Given the description of an element on the screen output the (x, y) to click on. 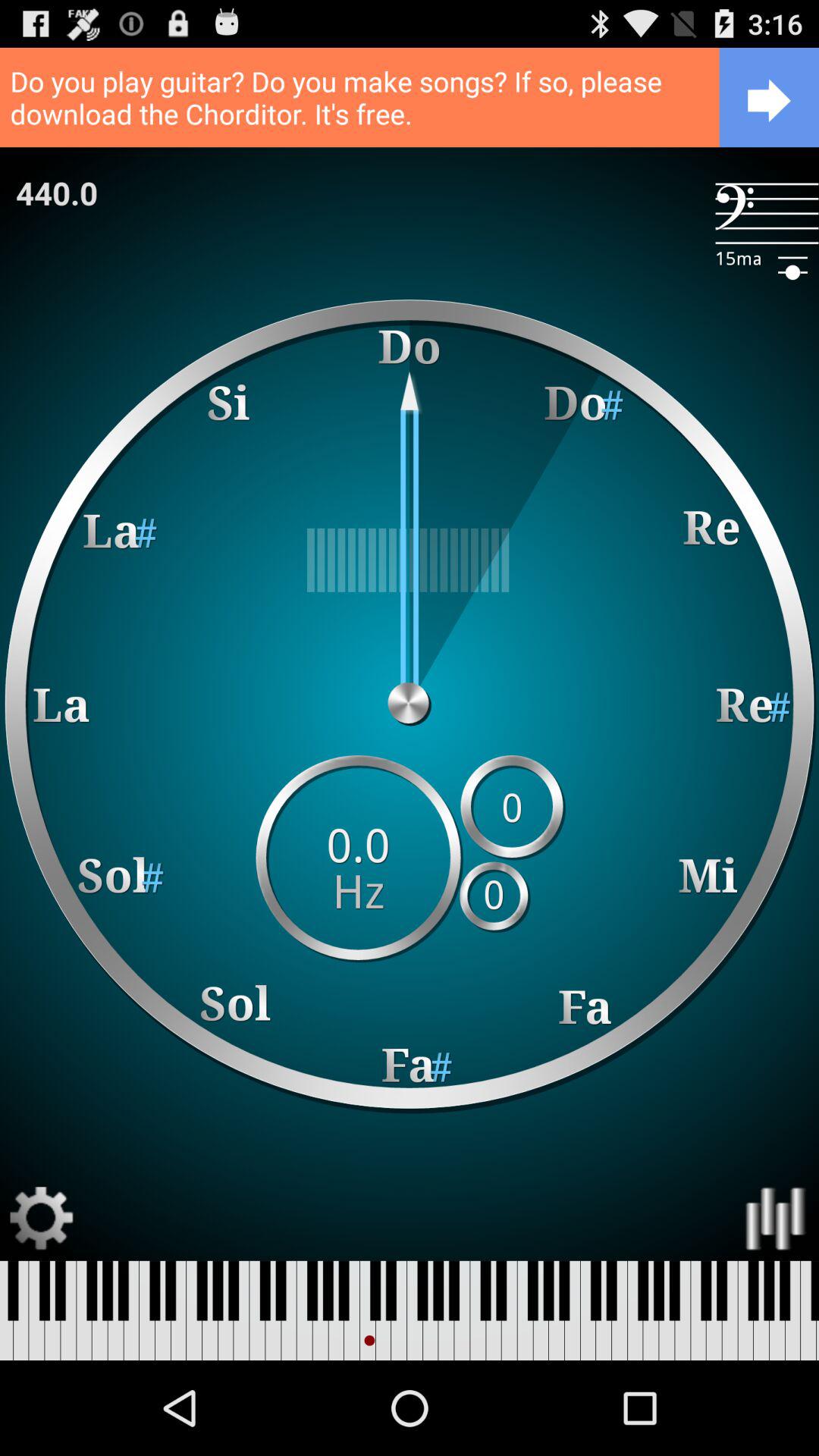
select the item to the right of 440.0 (767, 213)
